Given the description of an element on the screen output the (x, y) to click on. 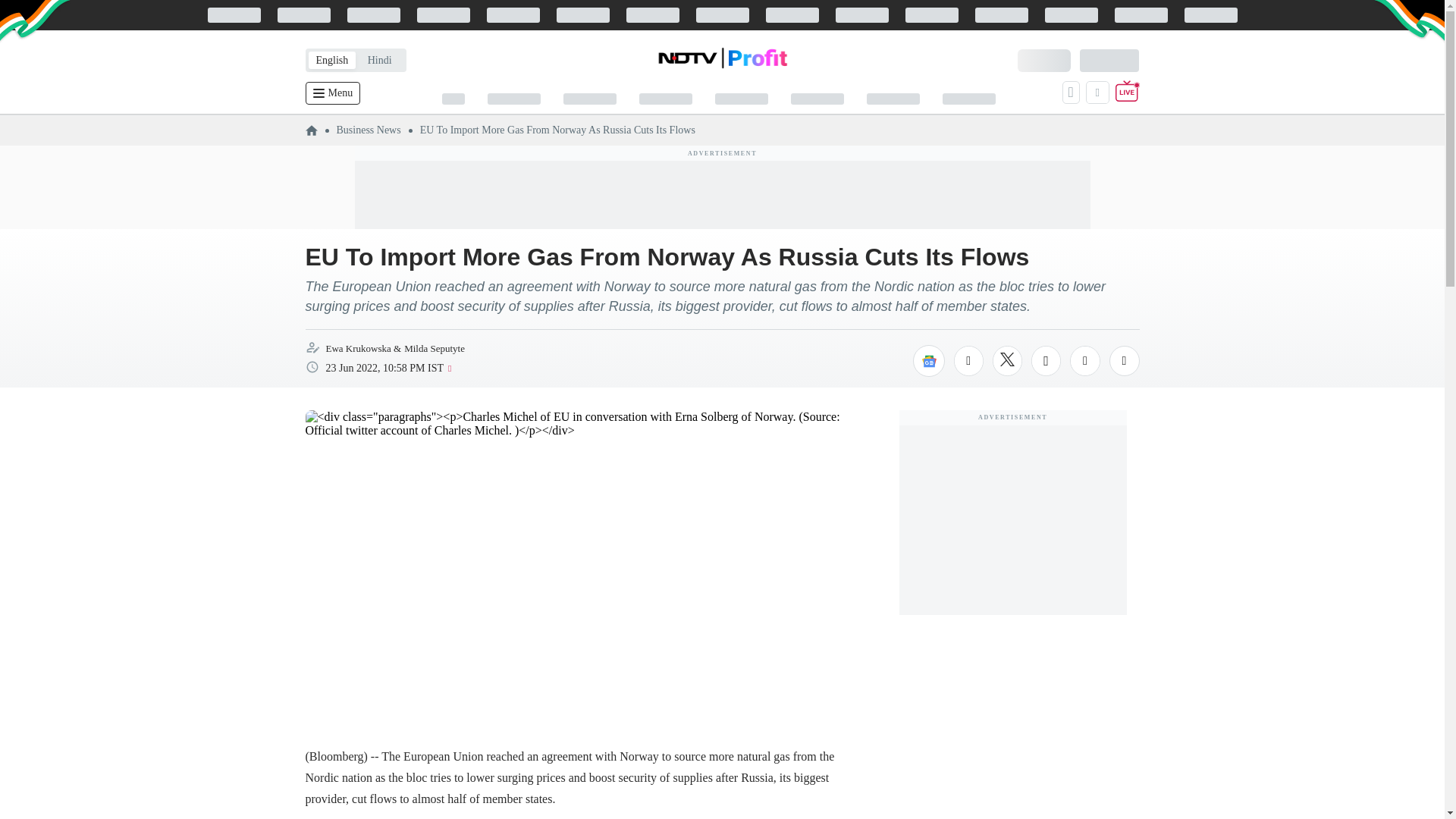
Hindi (379, 59)
English (331, 59)
Menu (331, 92)
Live TV (1127, 92)
Hindi (378, 59)
